Given the description of an element on the screen output the (x, y) to click on. 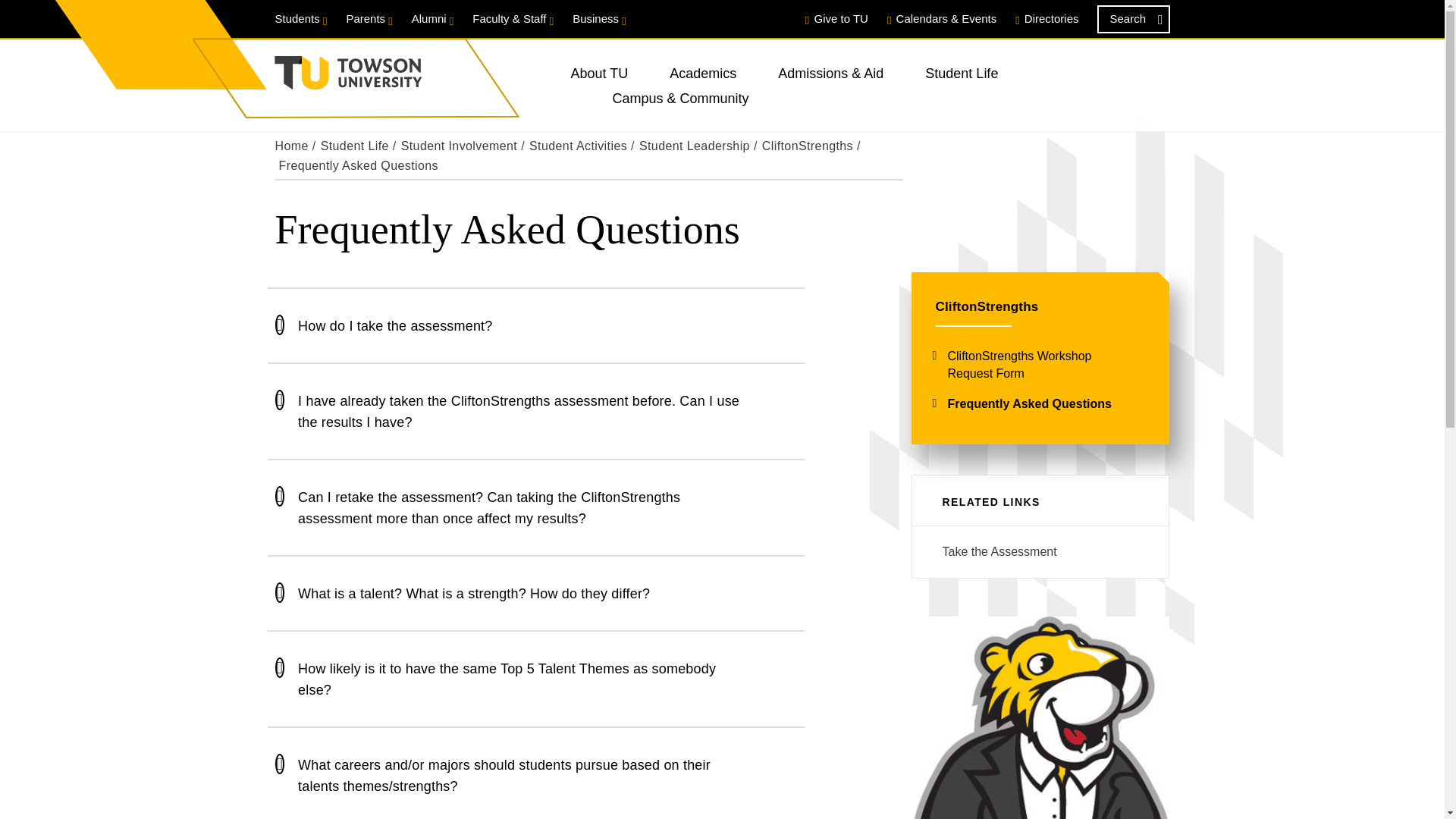
Search (1132, 18)
Students (300, 18)
Search (1132, 18)
Parents (368, 18)
Alumni (433, 18)
